Given the description of an element on the screen output the (x, y) to click on. 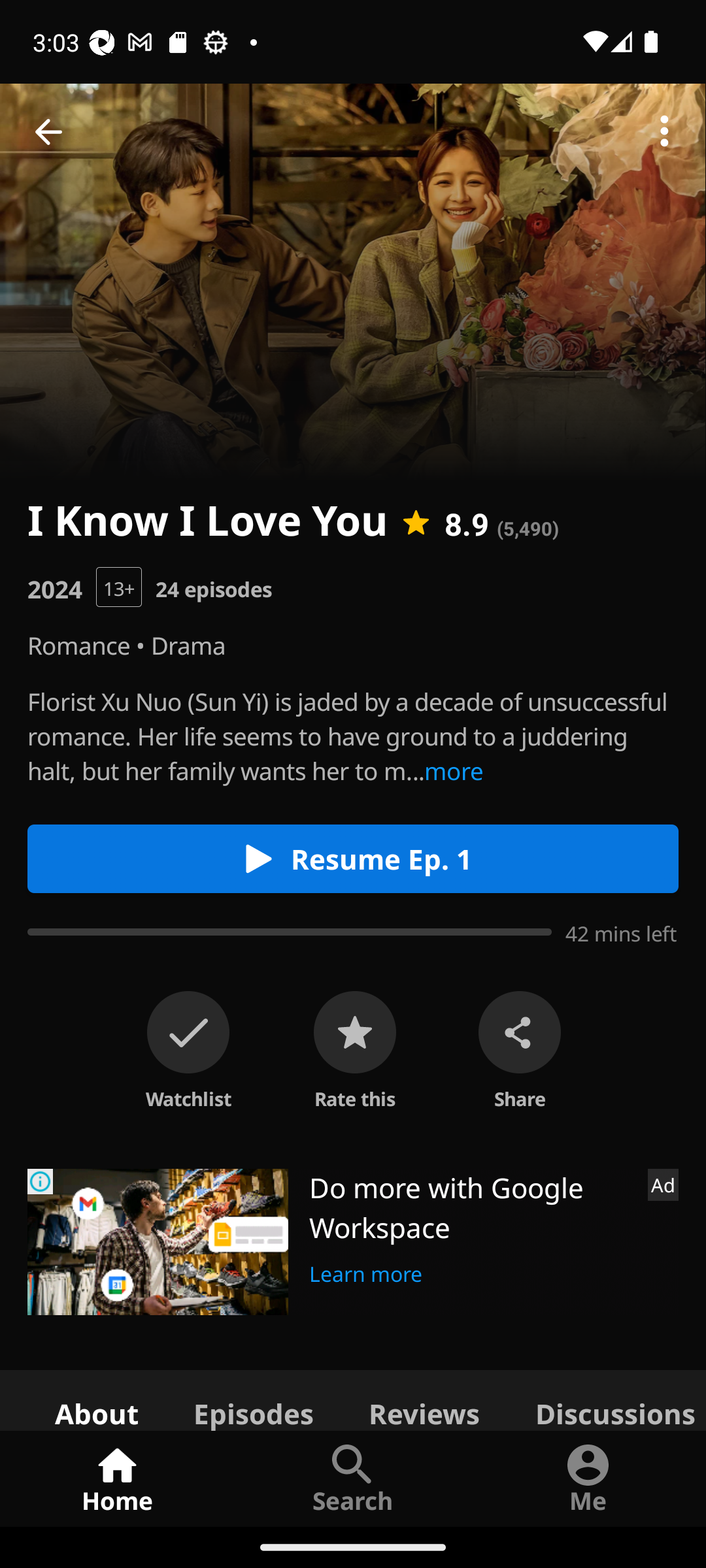
More (664, 131)
on (187, 1032)
Ad Choices Icon (39, 1181)
Do more with Google Workspace (471, 1207)
Learn more (365, 1271)
Episodes (252, 1400)
Reviews (423, 1400)
Discussions (606, 1400)
Search (352, 1478)
Me (588, 1478)
